Given the description of an element on the screen output the (x, y) to click on. 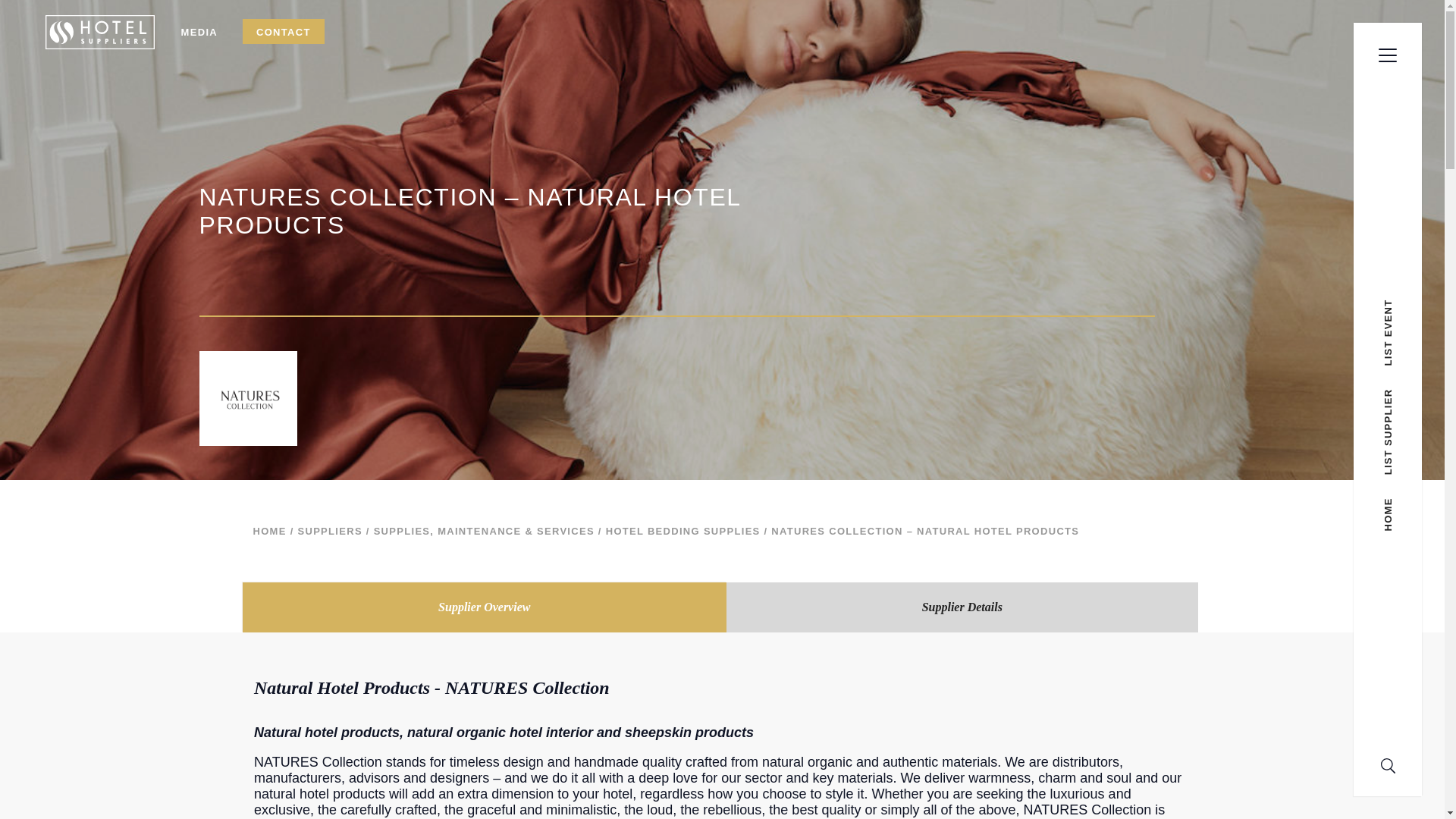
SUPPLIERS (329, 531)
CONTACT (283, 32)
HOTEL BEDDING SUPPLIES (682, 531)
HOME (269, 531)
MEDIA (199, 32)
